Given the description of an element on the screen output the (x, y) to click on. 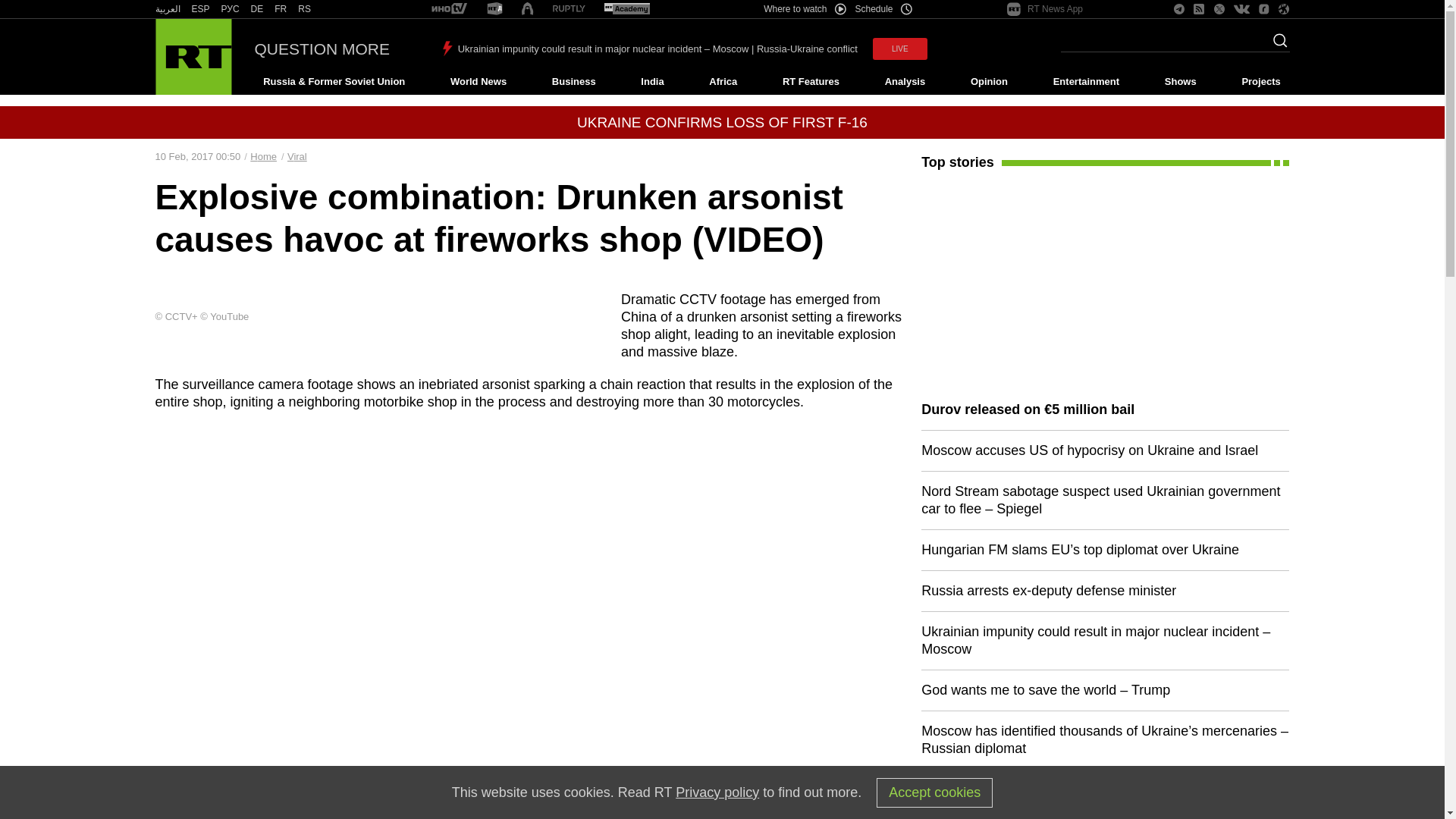
Projects (1261, 81)
RT  (230, 9)
Search (1276, 44)
FR (280, 9)
Entertainment (1085, 81)
RT  (304, 9)
RT  (166, 9)
Search (1276, 44)
Africa (722, 81)
Analysis (905, 81)
